Given the description of an element on the screen output the (x, y) to click on. 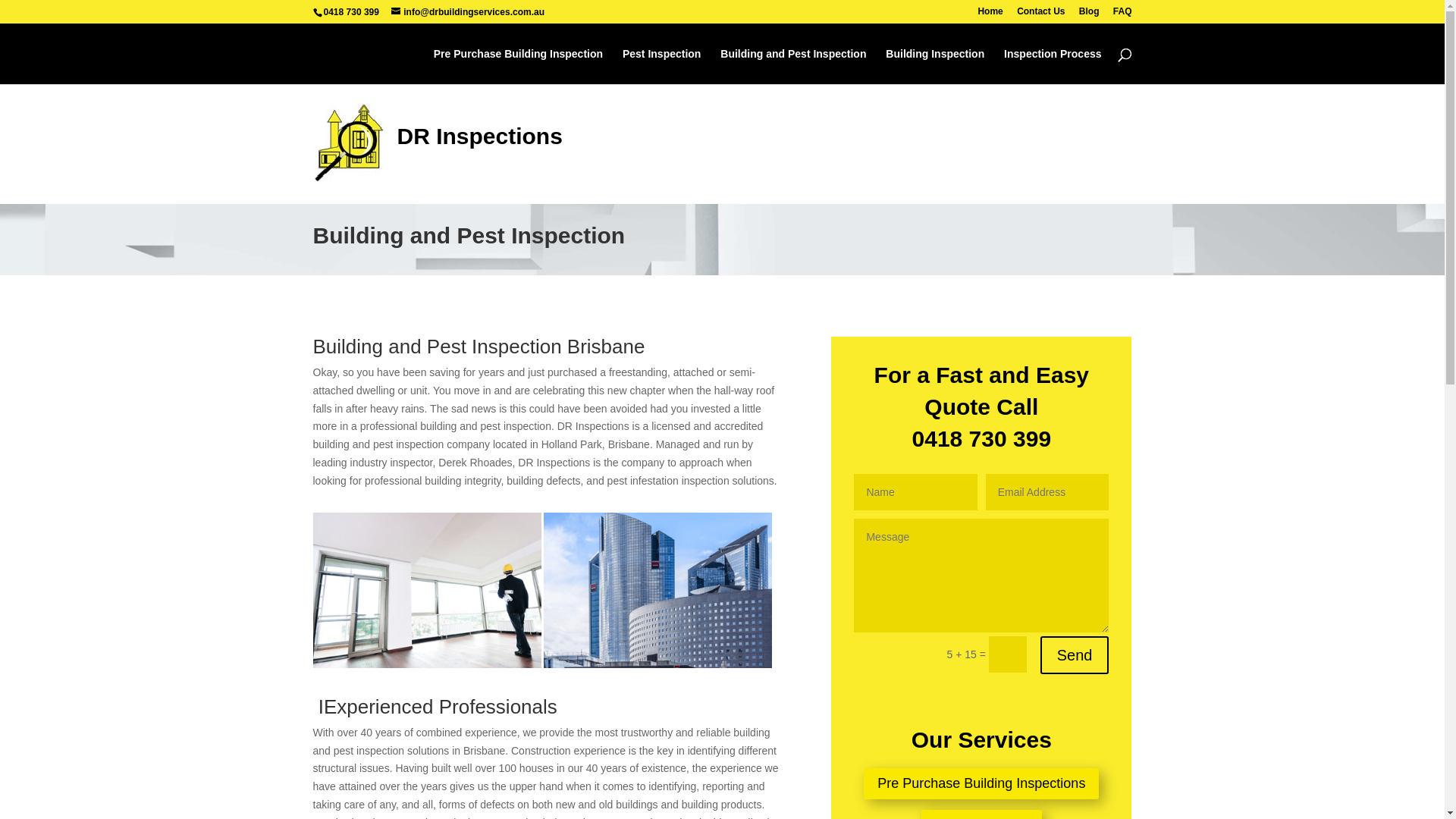
info@drbuildingservices.com.au Element type: text (467, 11)
Pest Inspection Element type: text (661, 66)
FAQ Element type: text (1122, 14)
Pre Purchase Building Inspections Element type: text (980, 783)
Building and Pest Inspection Element type: text (793, 66)
Send Element type: text (1074, 655)
Home Element type: text (989, 14)
Building Inspection Element type: text (934, 66)
Pre Purchase Building Inspection Element type: text (517, 66)
Blog Element type: text (1089, 14)
Contact Us Element type: text (1040, 14)
Inspection Process Element type: text (1052, 66)
